Given the description of an element on the screen output the (x, y) to click on. 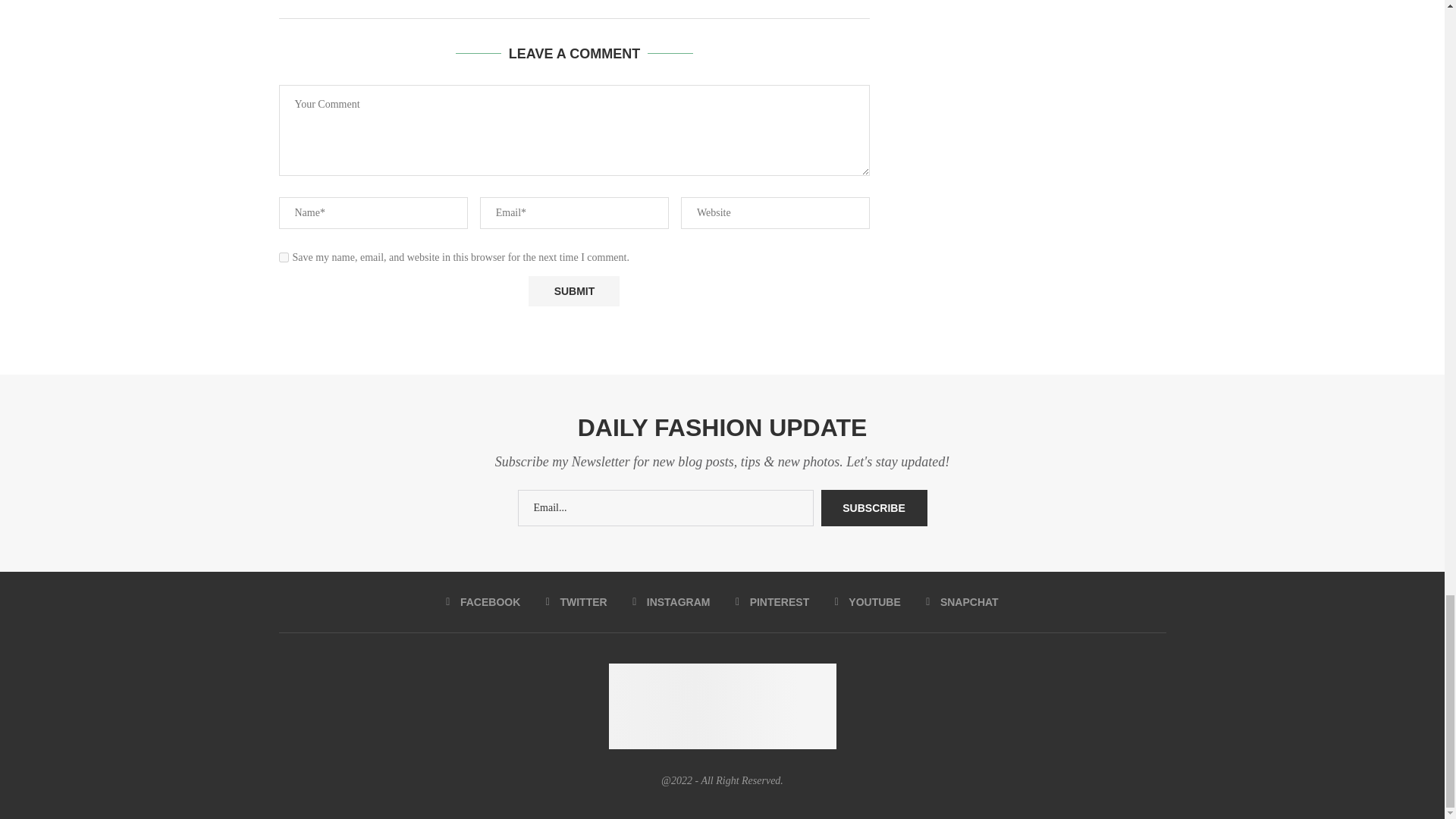
Subscribe (873, 507)
Submit (574, 291)
yes (283, 257)
